Given the description of an element on the screen output the (x, y) to click on. 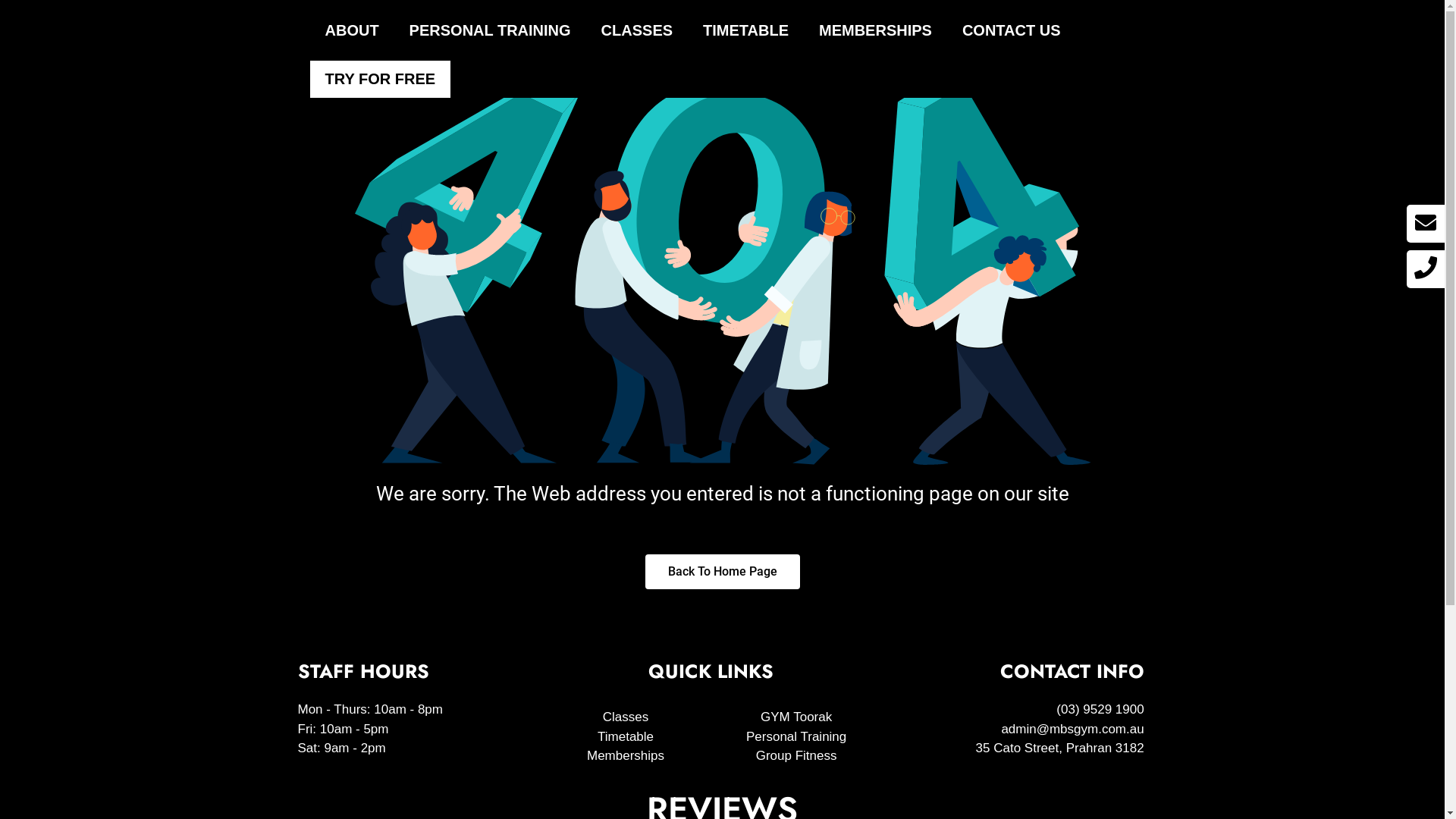
admin@mbsgym.com.au Element type: text (1020, 729)
CONTACT US Element type: text (1011, 30)
Memberships Element type: text (624, 755)
Personal Training Element type: text (796, 736)
(03) 9529 1900 Element type: text (1020, 709)
ABOUT Element type: text (351, 30)
TRY FOR FREE Element type: text (379, 78)
TIMETABLE Element type: text (745, 30)
Group Fitness Element type: text (796, 755)
PERSONAL TRAINING Element type: text (490, 30)
GYM Toorak Element type: text (796, 717)
Timetable Element type: text (624, 736)
Classes Element type: text (624, 717)
MEMBERSHIPS Element type: text (875, 30)
Back To Home Page Element type: text (721, 571)
CLASSES Element type: text (636, 30)
